Given the description of an element on the screen output the (x, y) to click on. 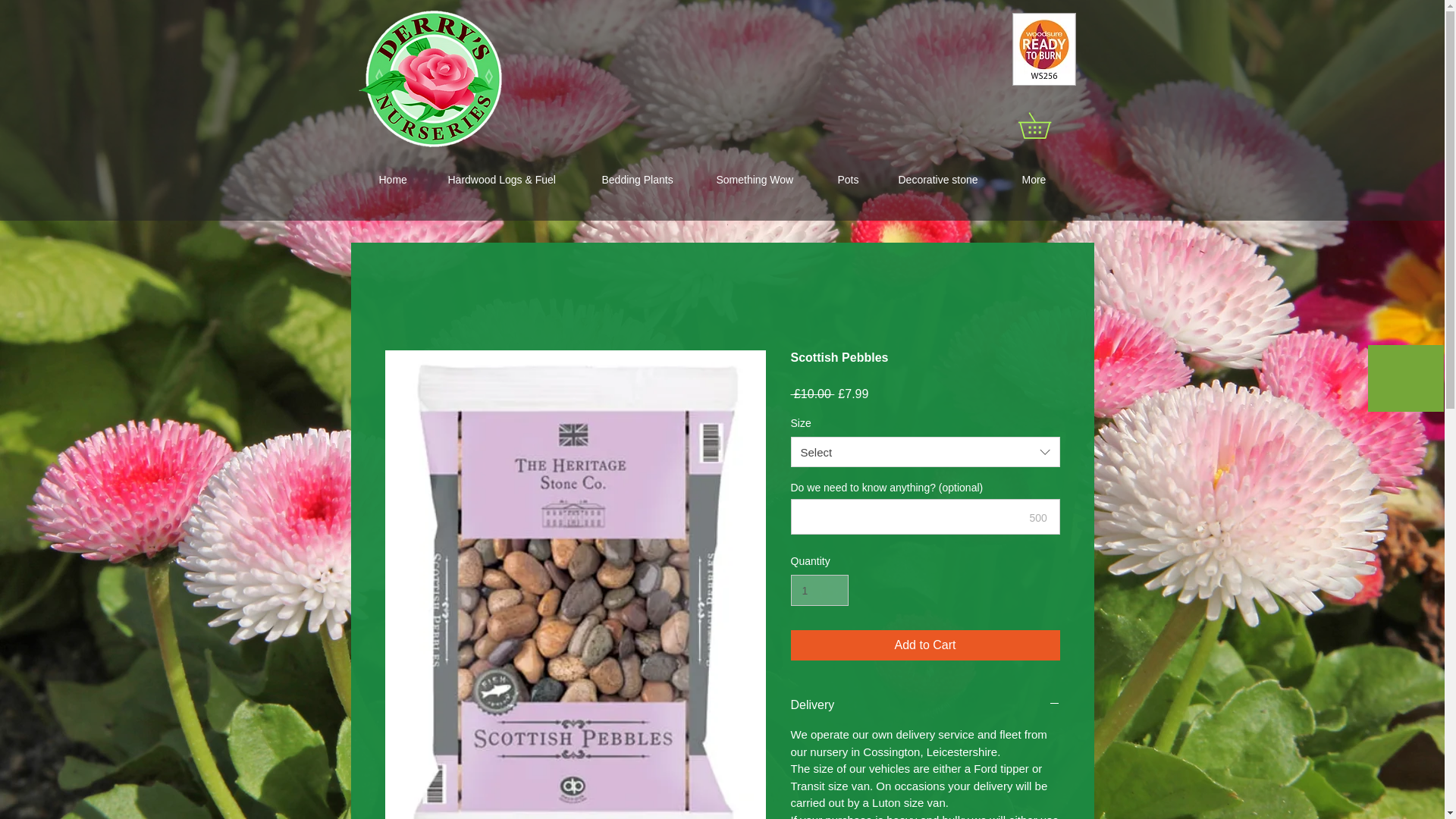
Home (400, 179)
Something Wow (765, 179)
Select (924, 451)
Delivery (924, 704)
Decorative stone (948, 179)
Bedding Plants (646, 179)
1 (818, 590)
Add to Cart (924, 644)
Pots (856, 179)
